Given the description of an element on the screen output the (x, y) to click on. 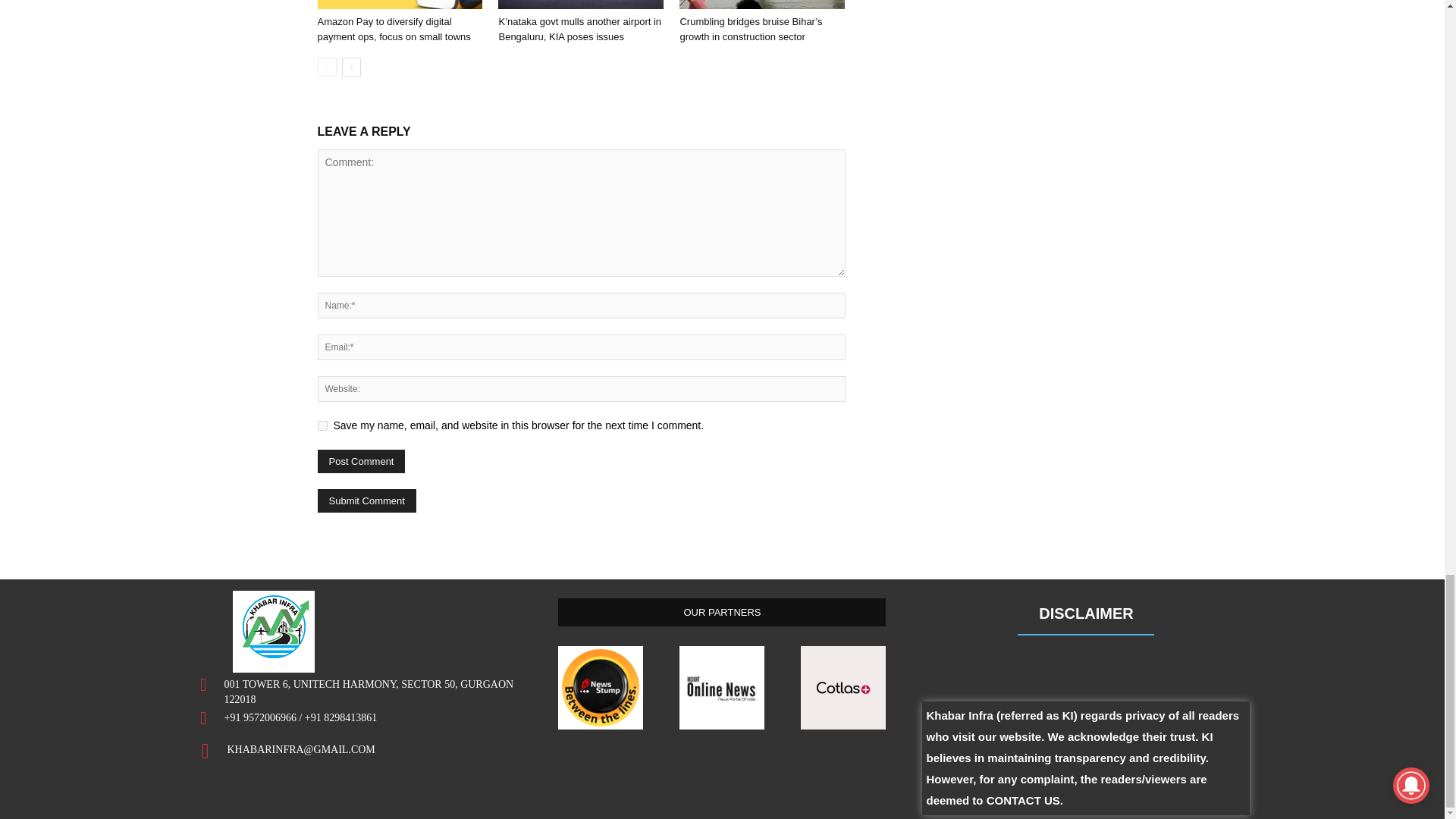
yes (321, 425)
Post Comment (360, 461)
Submit Comment (365, 500)
